Given the description of an element on the screen output the (x, y) to click on. 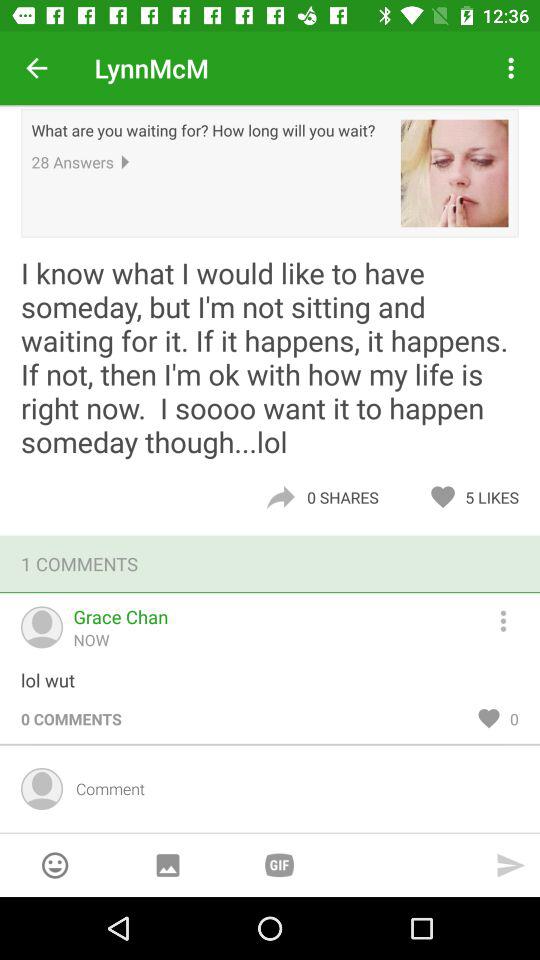
post emoji (54, 865)
